Given the description of an element on the screen output the (x, y) to click on. 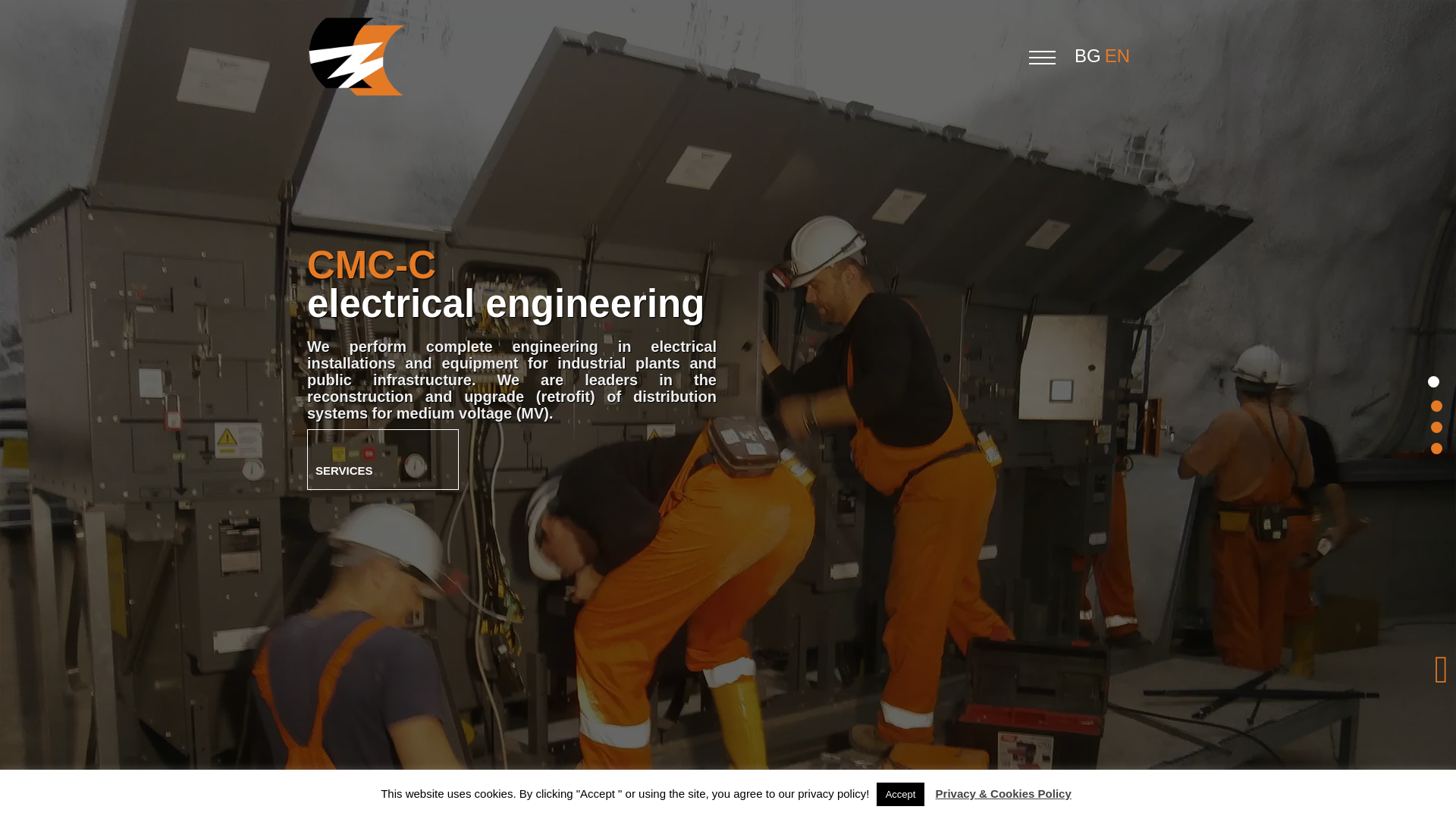
Career (1432, 444)
Accept (900, 793)
English (1119, 55)
Services (382, 459)
Home (1432, 380)
Products (1432, 423)
SERVICES (382, 459)
About us (1432, 402)
